Given the description of an element on the screen output the (x, y) to click on. 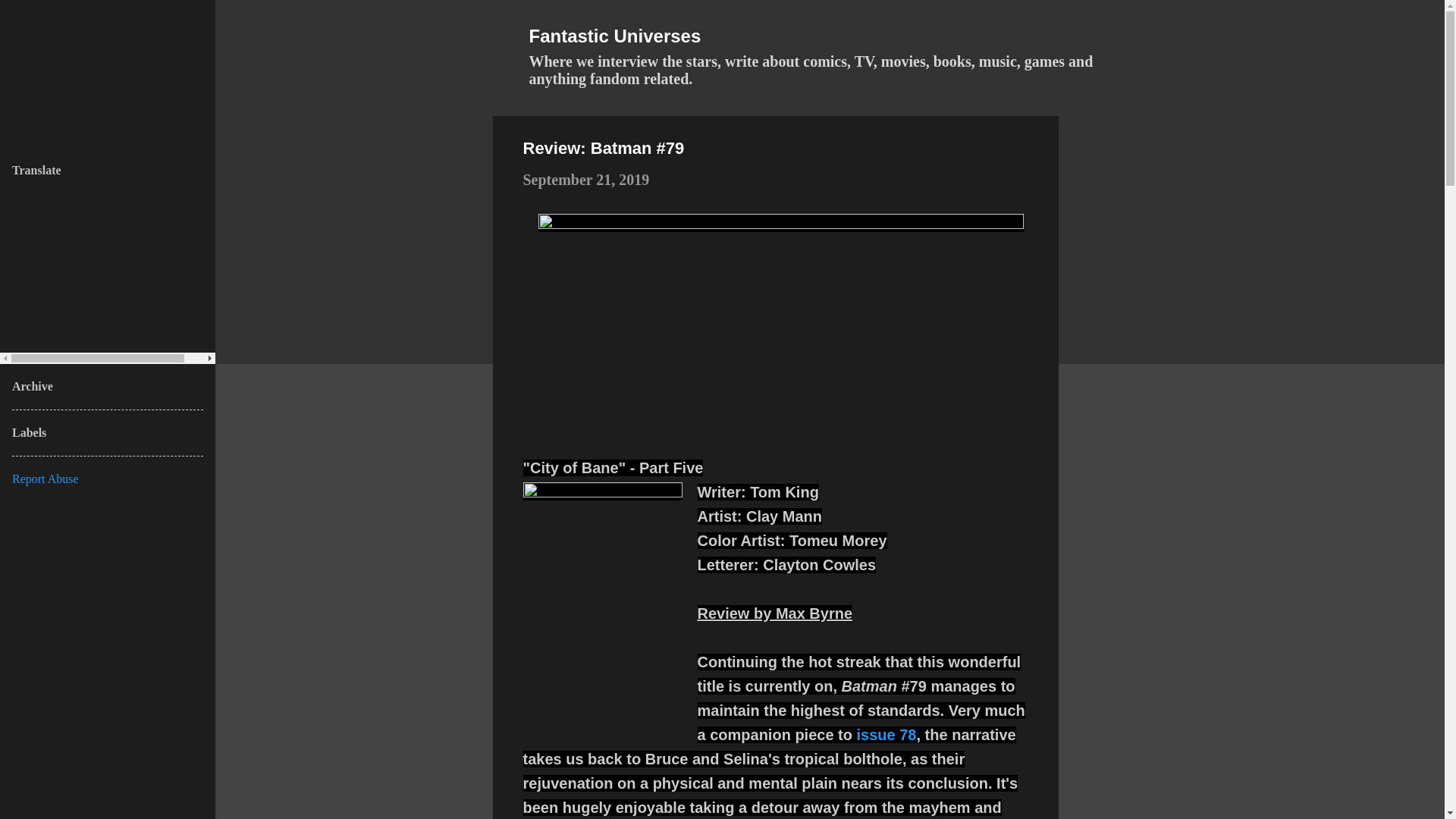
issue 78 (887, 734)
Advertisement (1118, 701)
Search (37, 18)
Advertisement (1118, 343)
Fantastic Universes (615, 35)
permanent link (585, 179)
September 21, 2019 (585, 179)
